Given the description of an element on the screen output the (x, y) to click on. 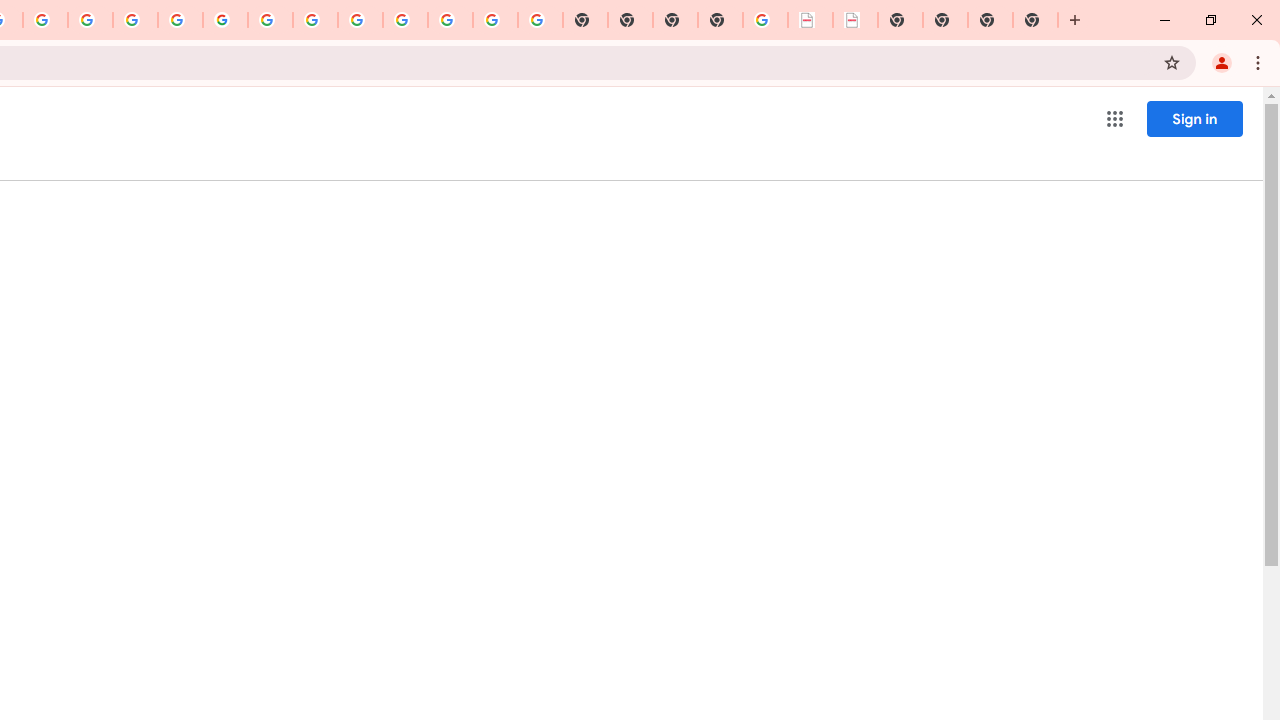
LAAD Defence & Security 2025 | BAE Systems (810, 20)
New Tab (1035, 20)
New Tab (720, 20)
